Given the description of an element on the screen output the (x, y) to click on. 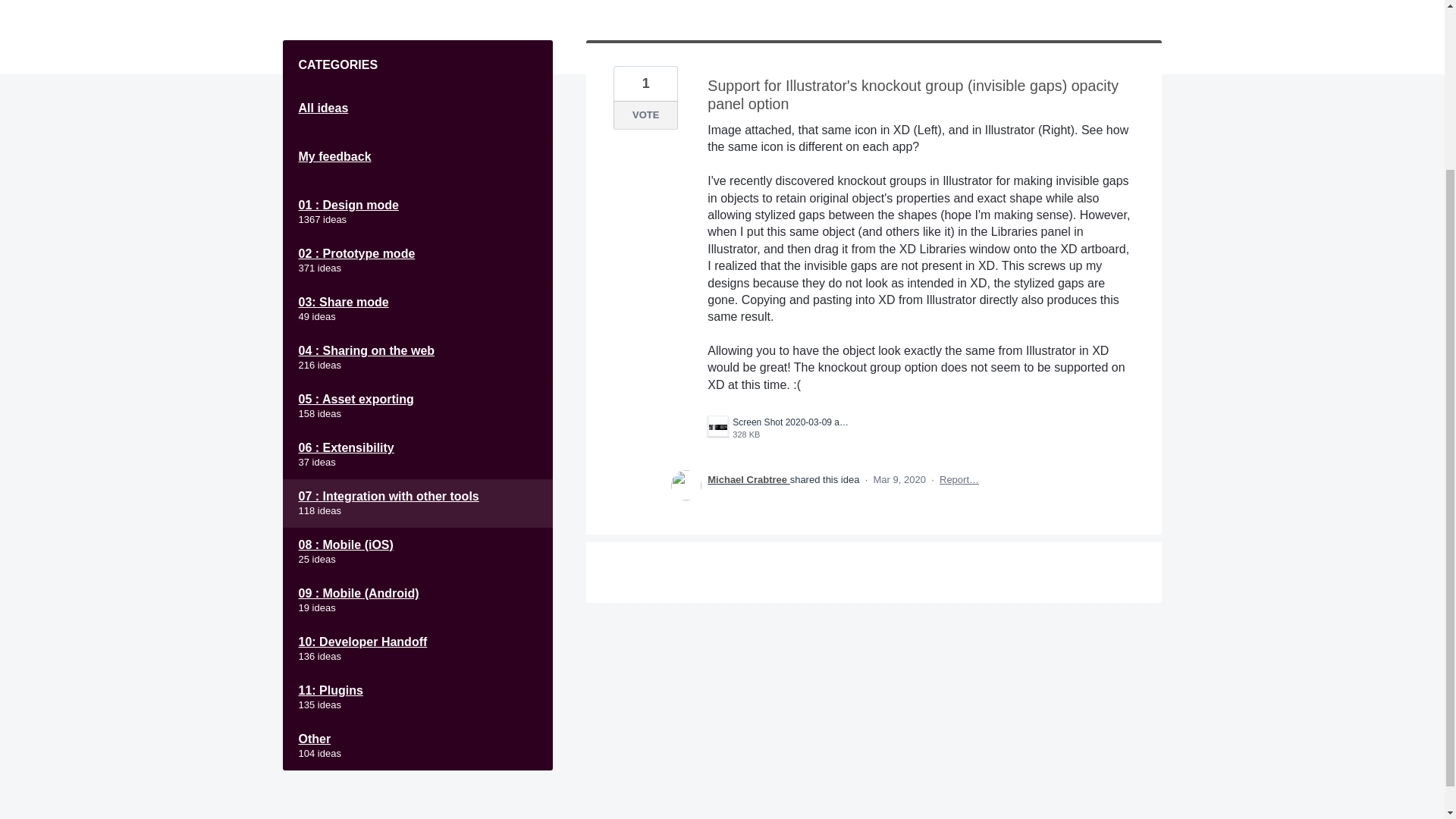
View all ideas in category 05 : Asset exporting (417, 406)
View all ideas in category 03: Share mode (417, 309)
02 : Prototype mode (779, 428)
VOTE (417, 260)
View all ideas in category 06 : Extensibility (645, 114)
Michael Crabtree (417, 454)
Voting has closed (748, 479)
View all ideas in category 11: Plugins (645, 114)
03: Share mode (417, 697)
